Given the description of an element on the screen output the (x, y) to click on. 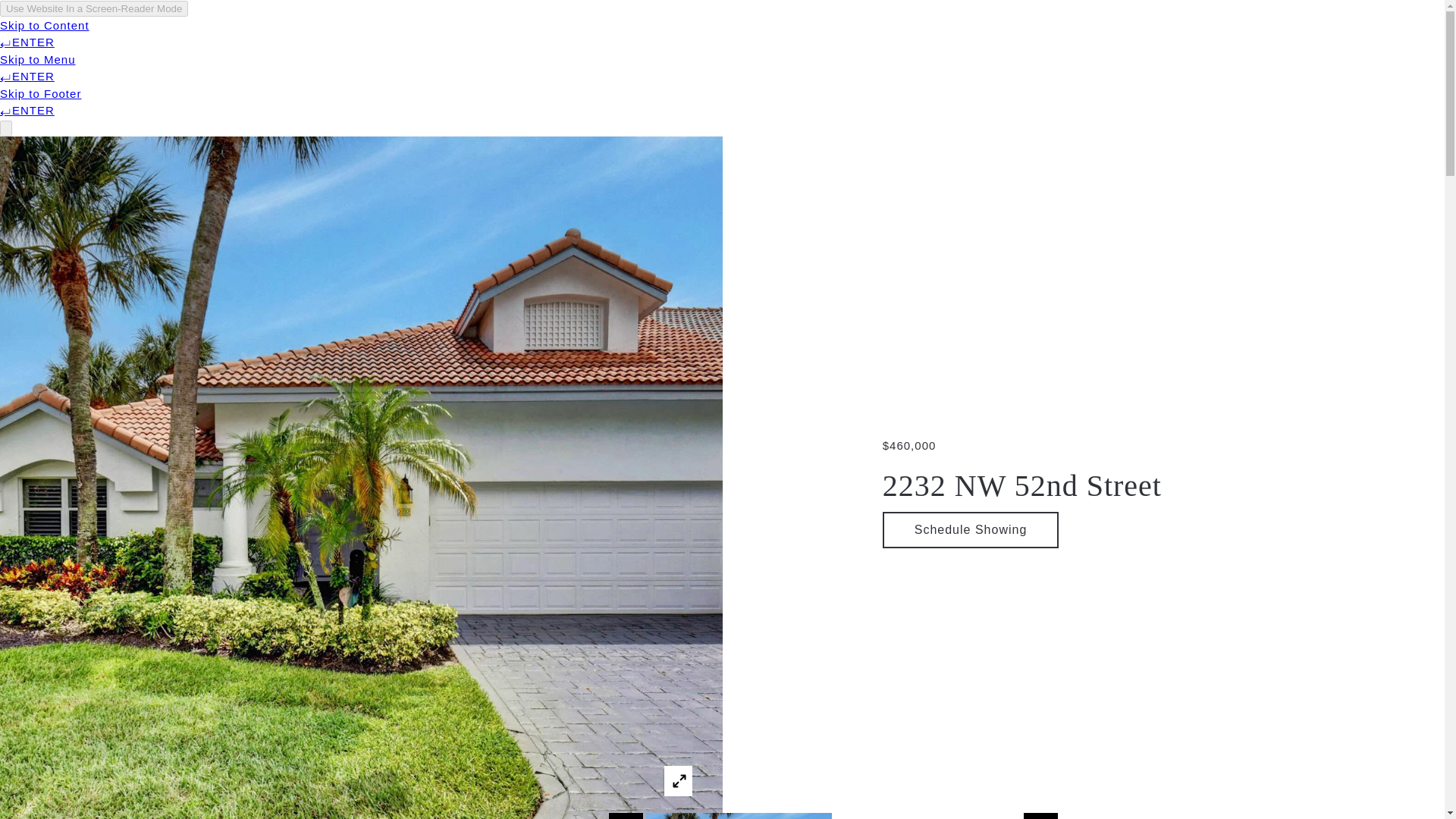
Schedule Showing (970, 529)
